Given the description of an element on the screen output the (x, y) to click on. 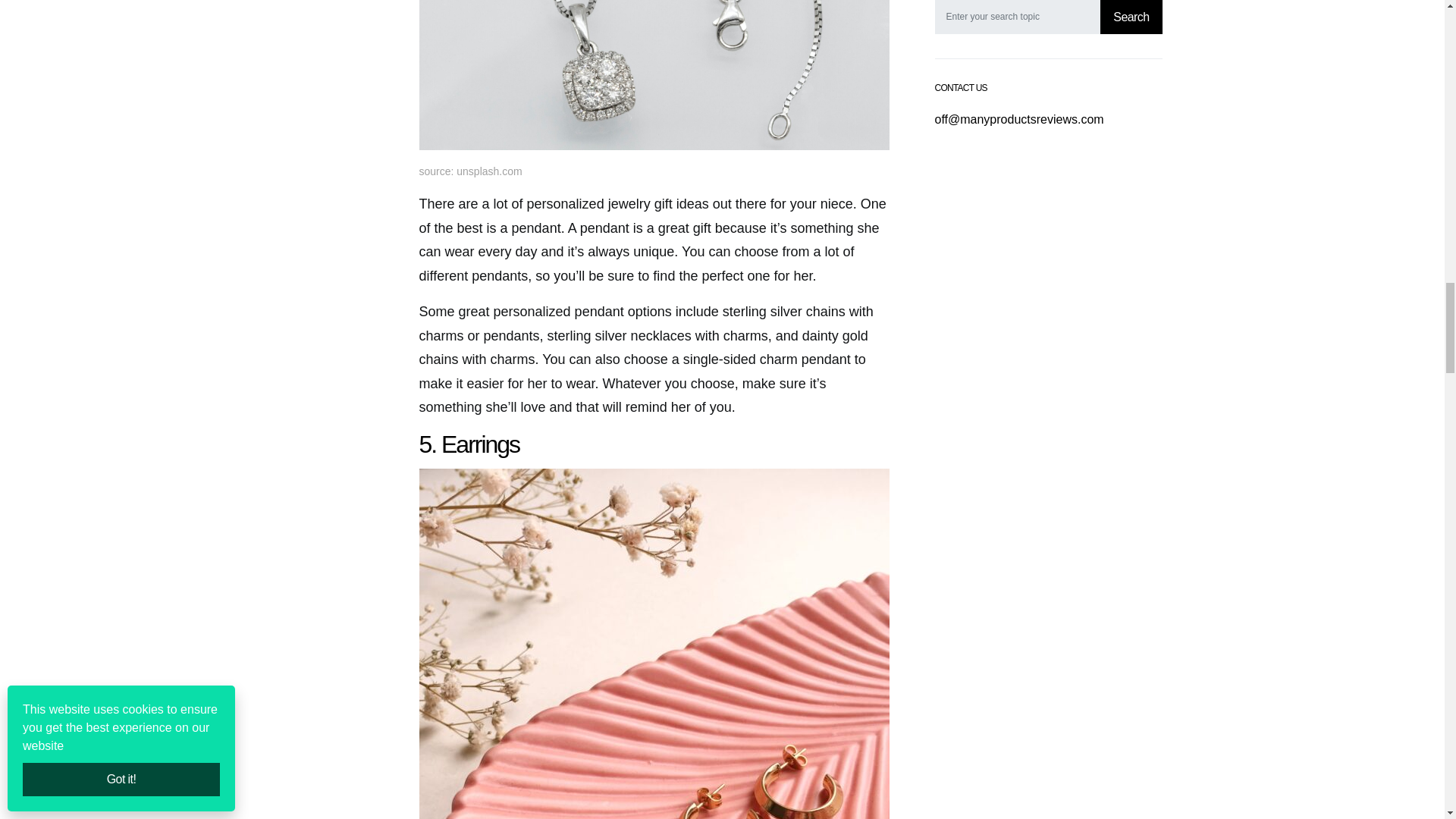
9 Personalized Jewelry Gift Ideas for your Niece (653, 74)
